Given the description of an element on the screen output the (x, y) to click on. 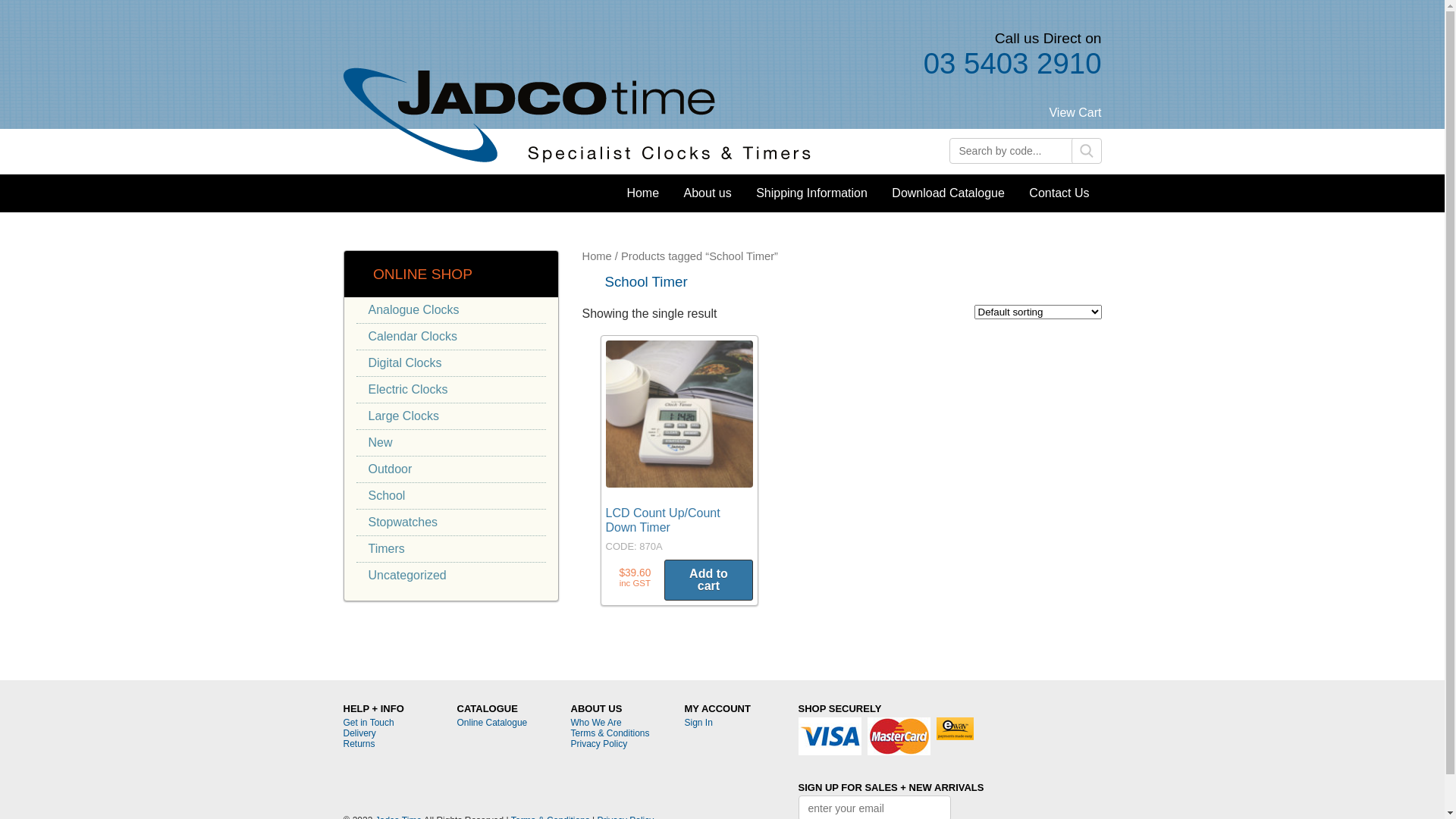
Analogue Clocks Element type: text (451, 310)
Who We Are Element type: text (595, 722)
Add to cart Element type: text (708, 579)
Online Catalogue Element type: text (491, 722)
LCD Count Up/Count Down Timer
CODE: 870A
$39.60 inc GST Element type: text (678, 446)
Timers Element type: text (451, 548)
Electric Clocks Element type: text (451, 389)
Stopwatches Element type: text (451, 522)
Shipping Information Element type: text (811, 193)
Home Element type: text (596, 256)
Digital Clocks Element type: text (451, 363)
Uncategorized Element type: text (451, 575)
Returns Element type: text (358, 743)
New Element type: text (451, 442)
Home Element type: text (642, 193)
Privacy Policy Element type: text (598, 743)
Outdoor Element type: text (451, 469)
Terms & Conditions Element type: text (609, 733)
Get in Touch Element type: text (367, 722)
Large Clocks Element type: text (451, 416)
Calendar Clocks Element type: text (451, 336)
Download Catalogue Element type: text (947, 193)
Delivery Element type: text (358, 733)
View Cart Element type: text (1074, 122)
Search Element type: text (1085, 150)
School Element type: text (451, 495)
Sign In Element type: text (698, 722)
Contact Us Element type: text (1058, 193)
03 5403 2910 Element type: text (721, 63)
About us Element type: text (707, 193)
